Given the description of an element on the screen output the (x, y) to click on. 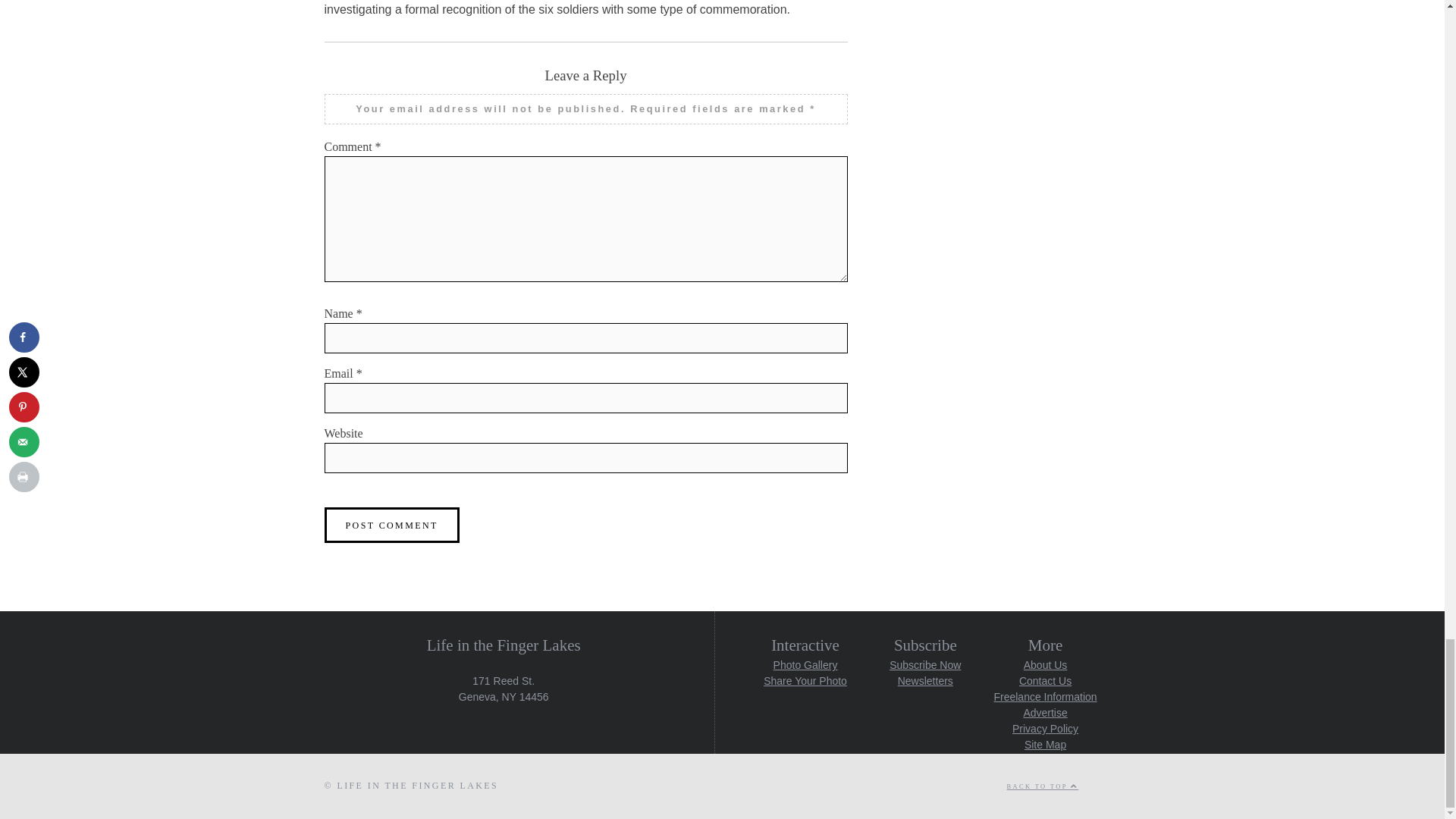
Post Comment (392, 524)
